Given the description of an element on the screen output the (x, y) to click on. 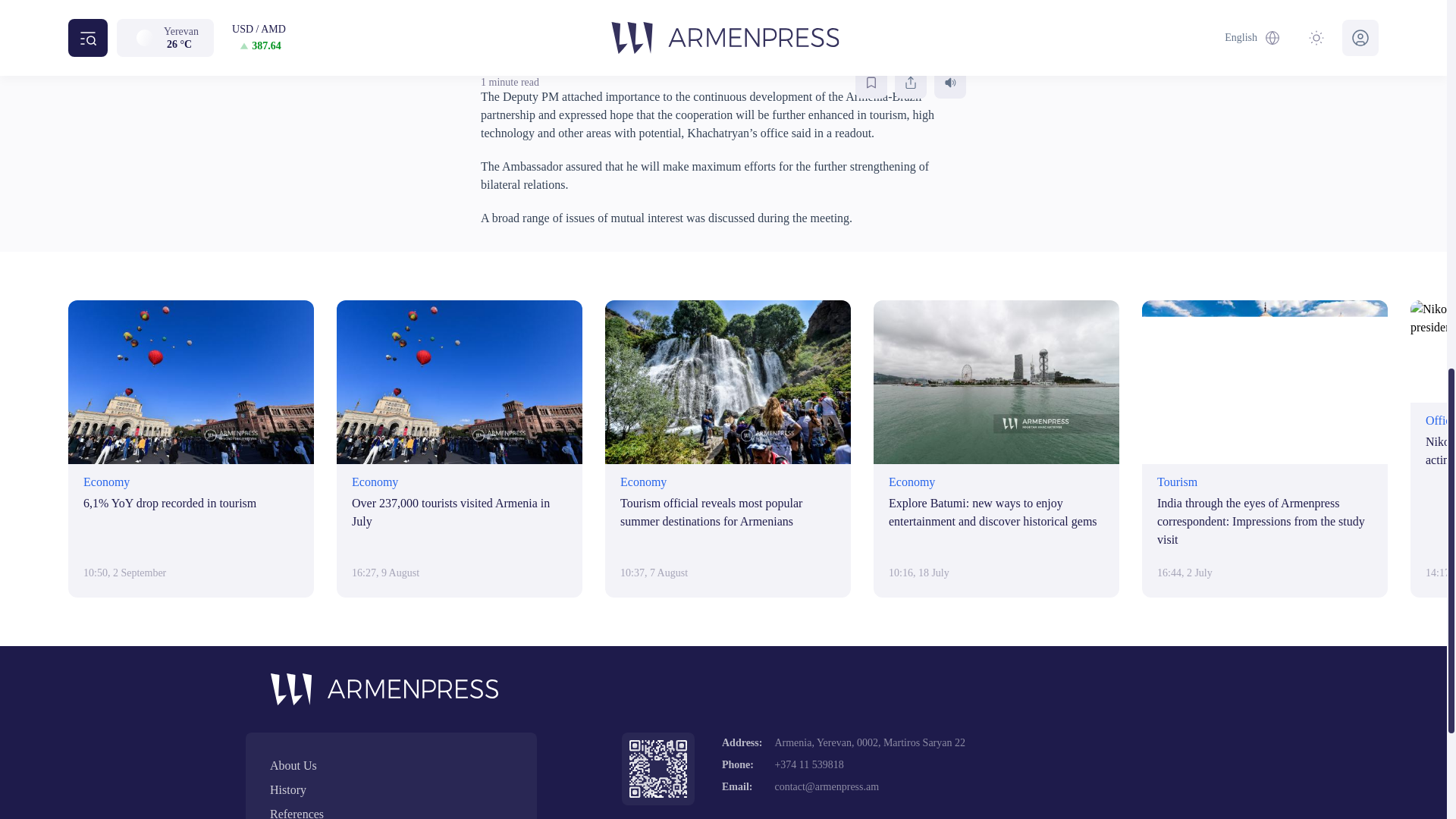
About Us (390, 765)
History (390, 790)
References (390, 812)
